Given the description of an element on the screen output the (x, y) to click on. 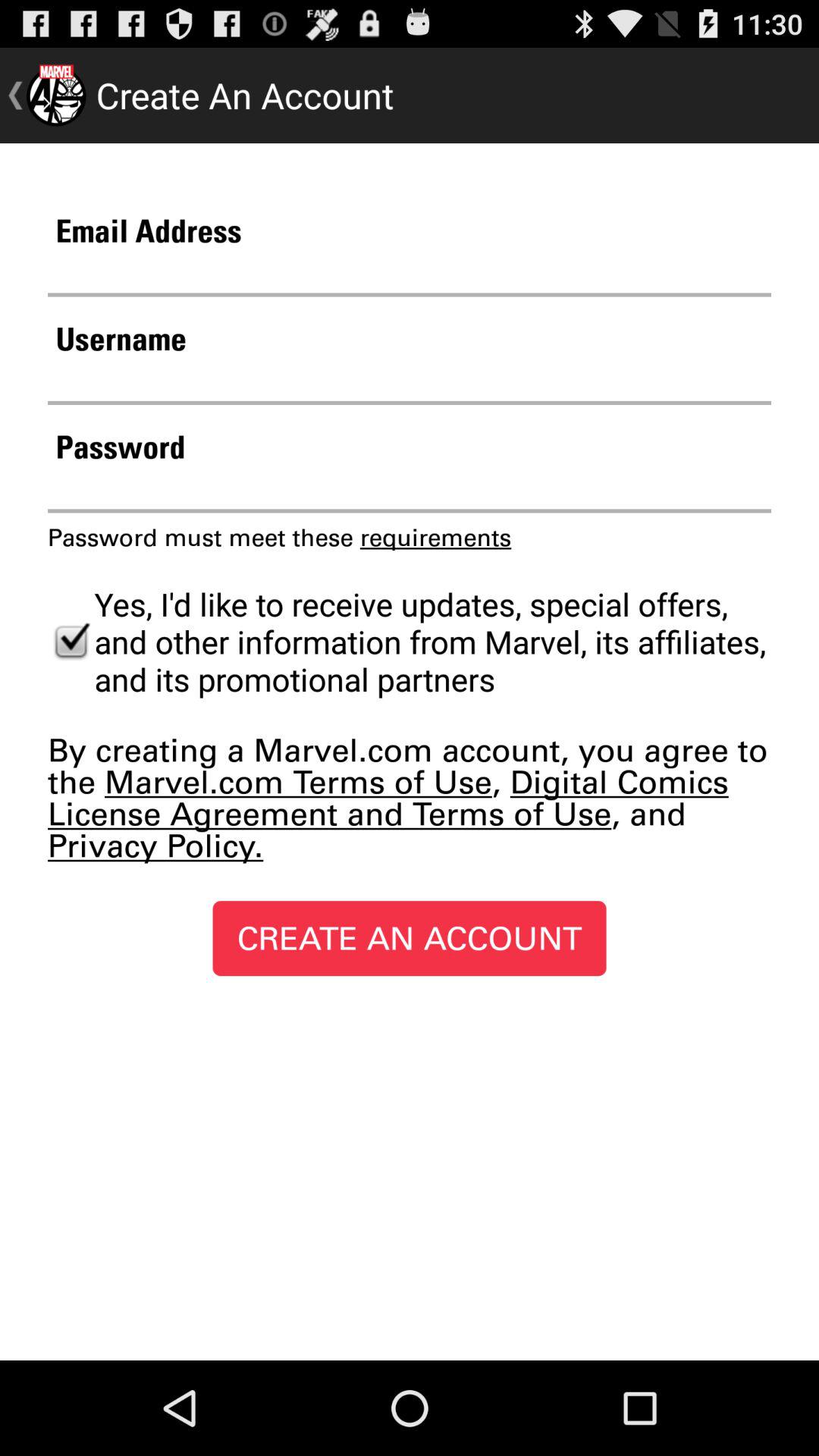
enter email address (409, 273)
